Given the description of an element on the screen output the (x, y) to click on. 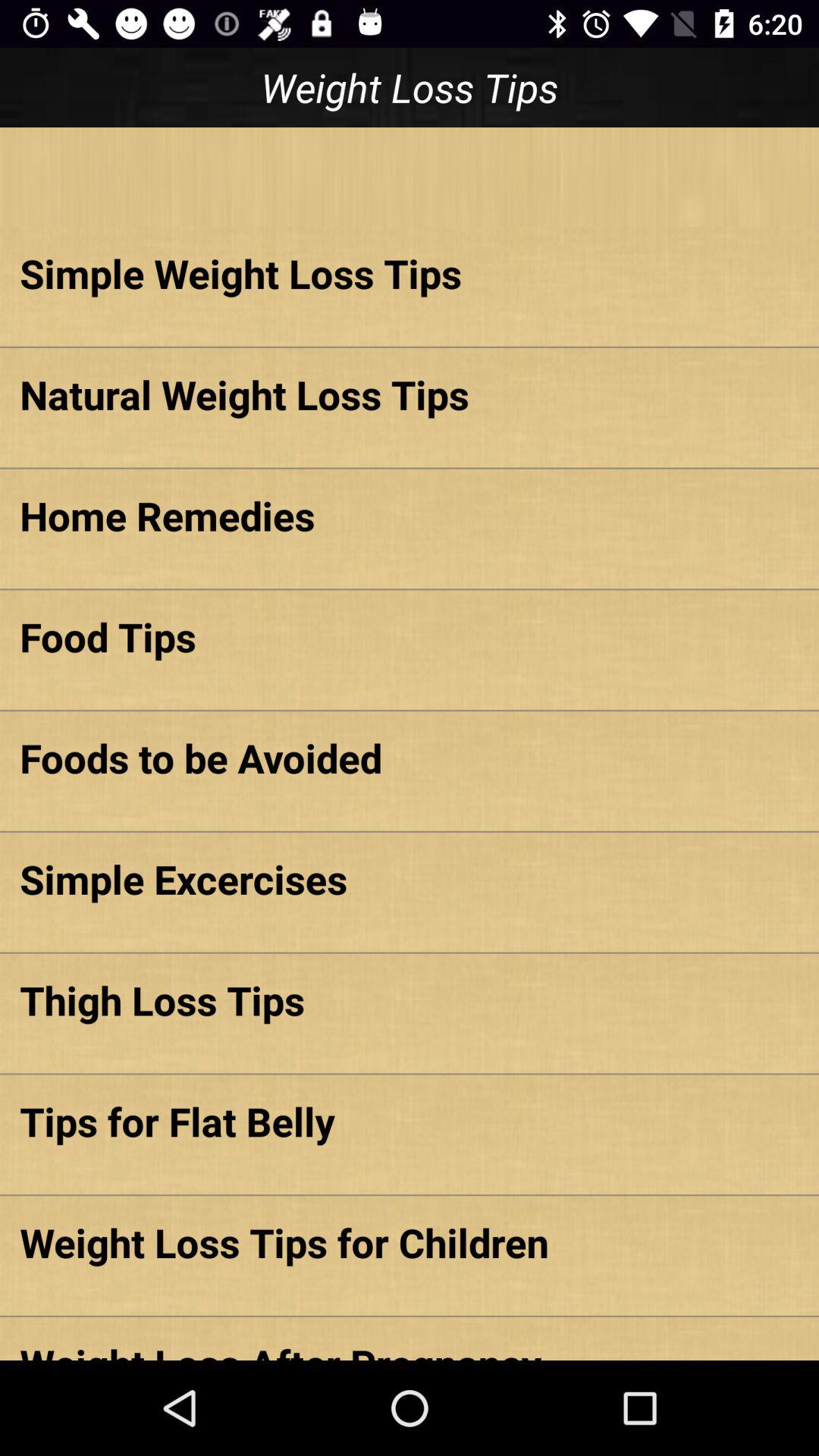
select food tips item (409, 636)
